Given the description of an element on the screen output the (x, y) to click on. 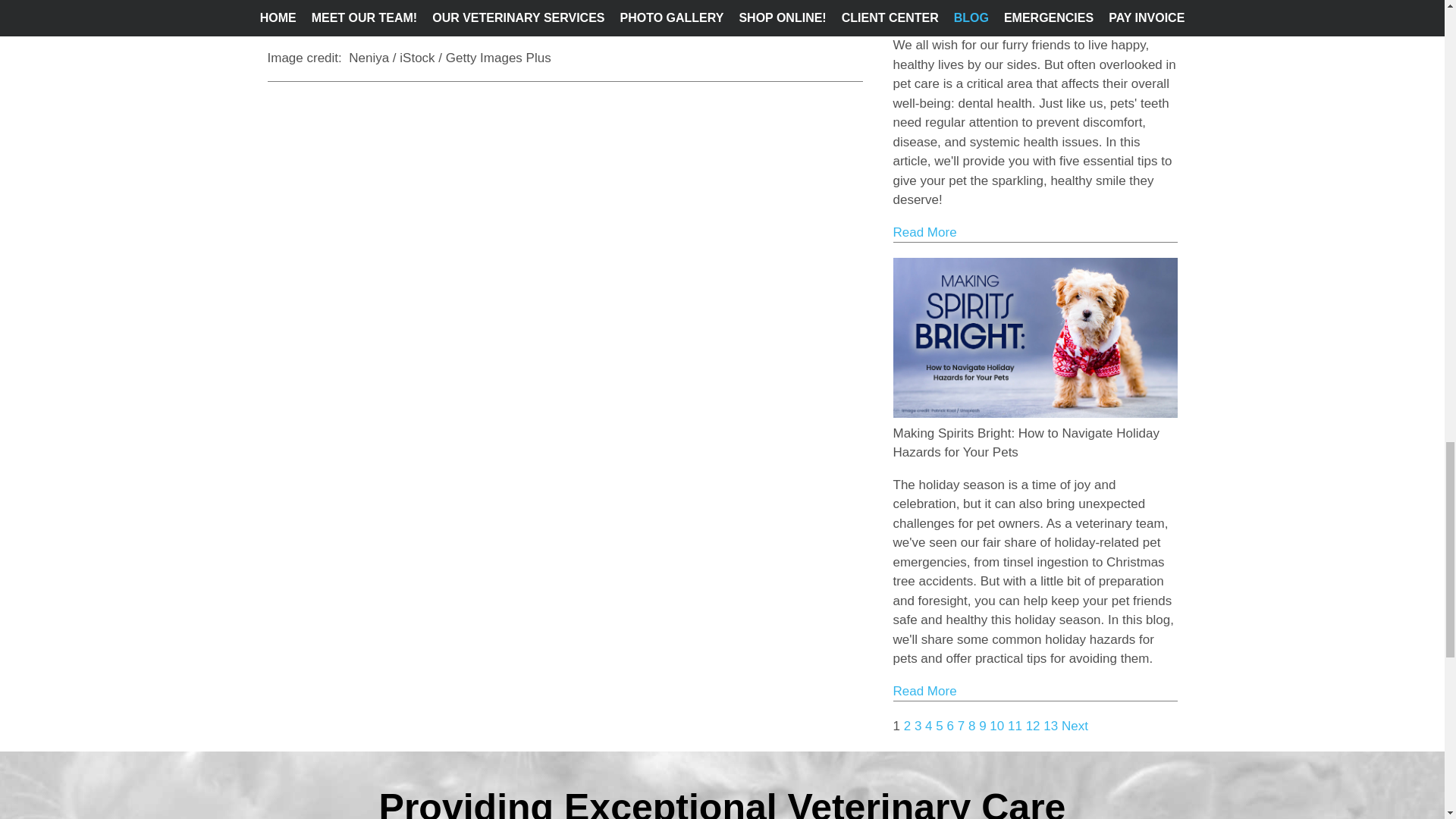
12 (1033, 726)
11 (1014, 726)
10 (997, 726)
Next (1074, 726)
13 (1050, 726)
Read More (924, 690)
Read More (924, 232)
